Given the description of an element on the screen output the (x, y) to click on. 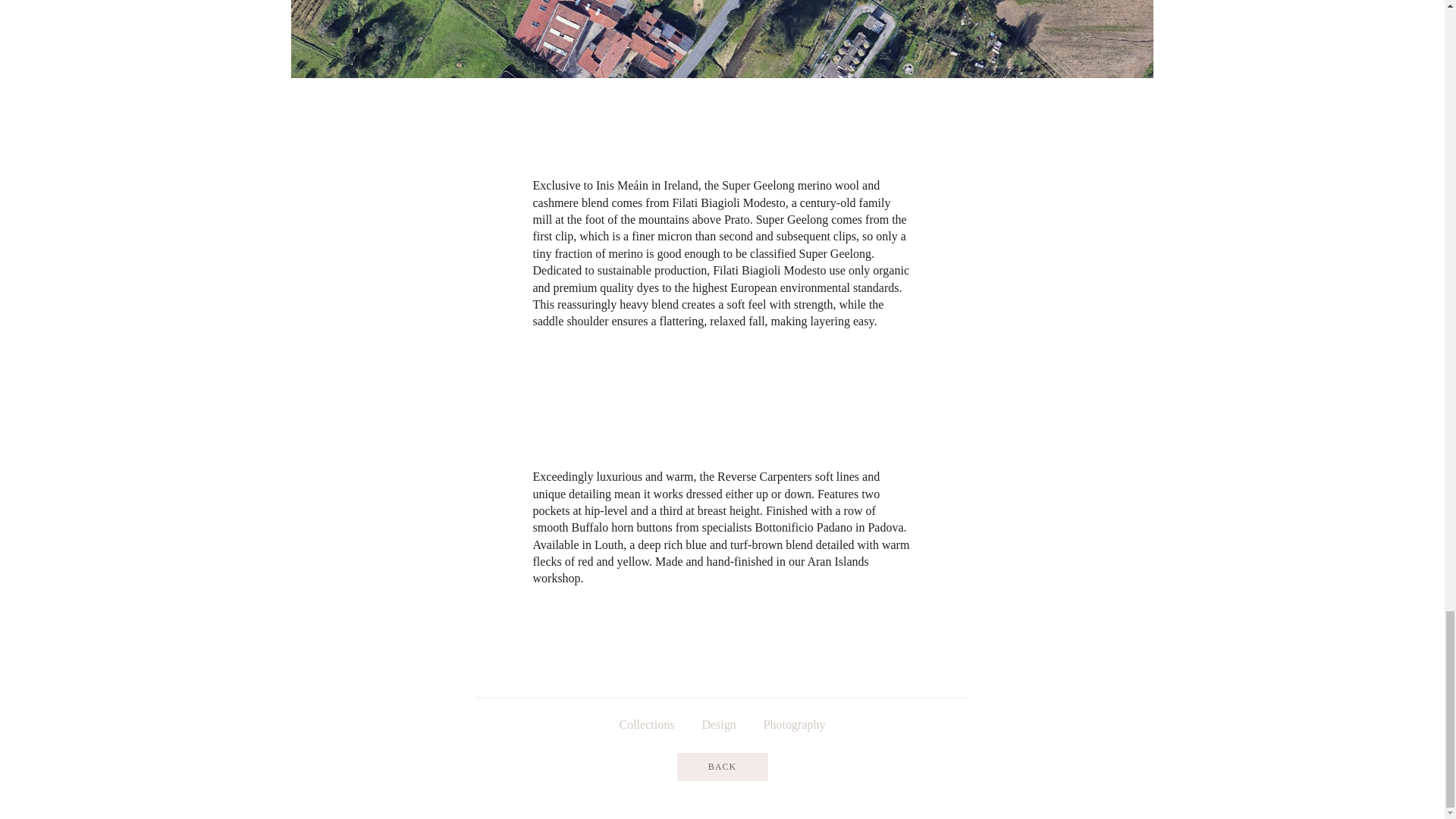
Collections (646, 724)
Design (718, 724)
BACK (722, 766)
Photography (794, 724)
